Given the description of an element on the screen output the (x, y) to click on. 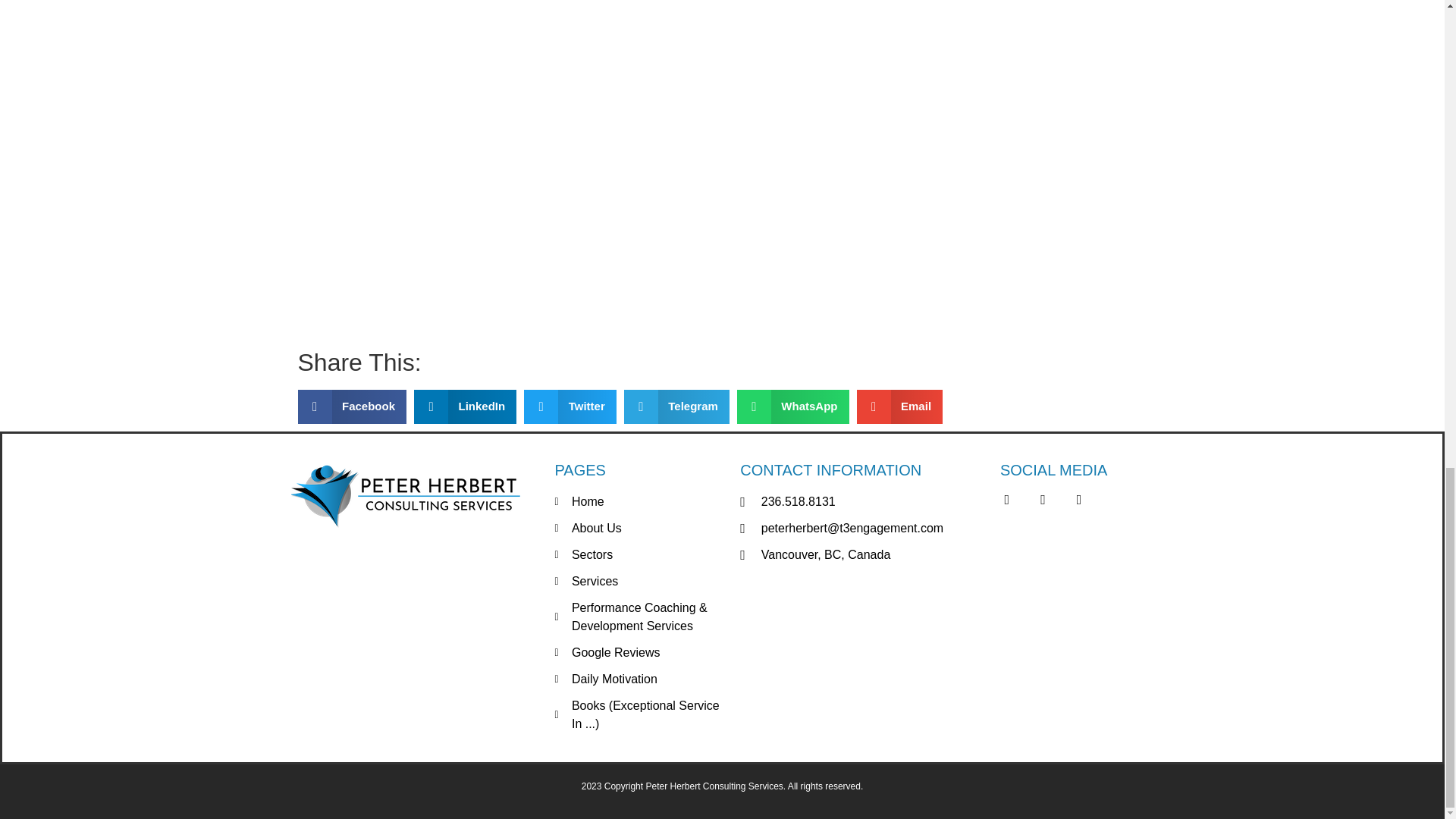
About Us (639, 528)
Services (639, 581)
Home (639, 502)
Daily Motivation (639, 679)
Google Reviews (639, 652)
Sectors (639, 555)
